Given the description of an element on the screen output the (x, y) to click on. 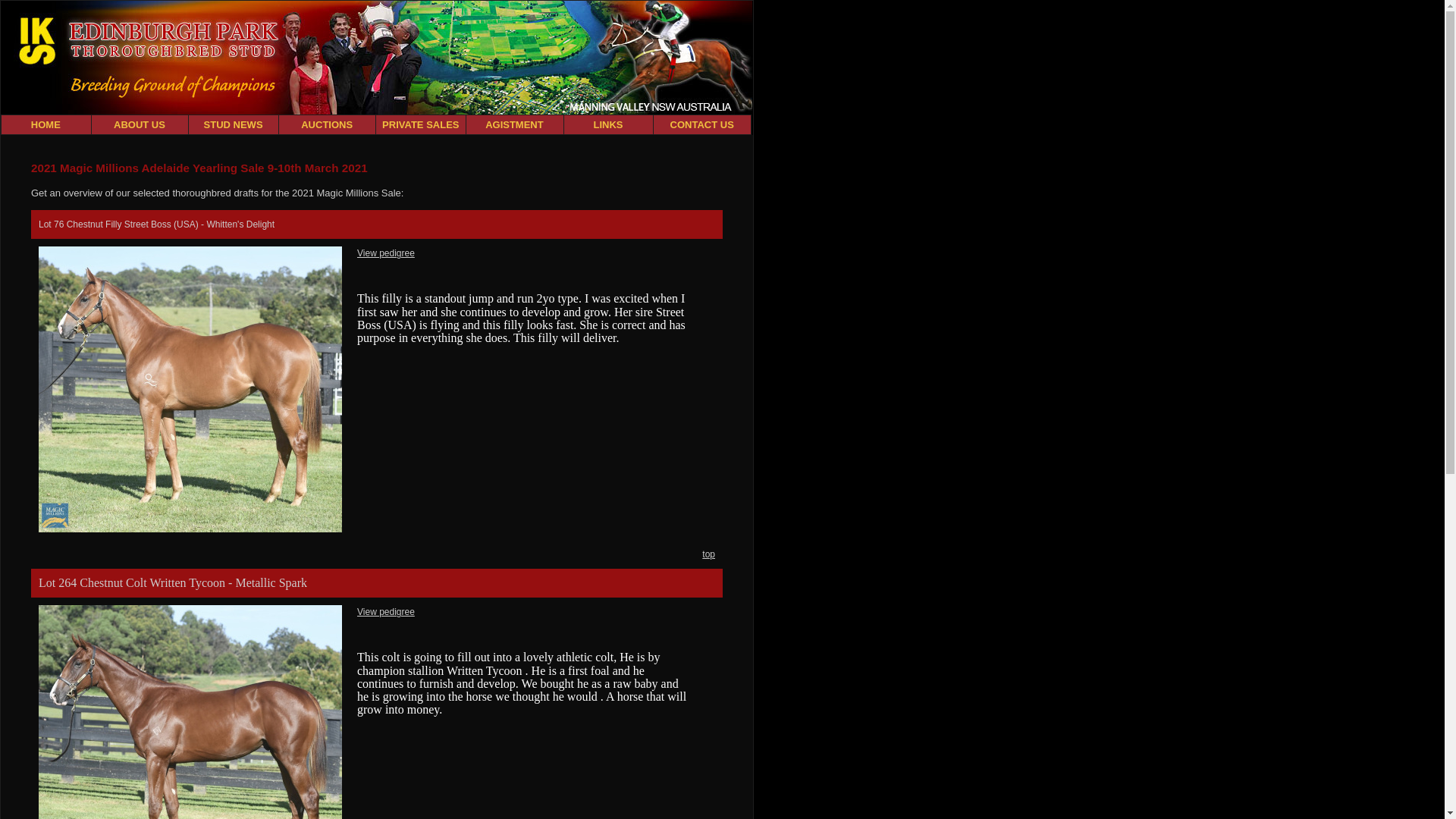
View pedigree Element type: text (385, 252)
View pedigree Element type: text (385, 611)
PRIVATE SALES Element type: text (421, 124)
STUD NEWS Element type: text (233, 124)
CONTACT US Element type: text (702, 124)
LINKS Element type: text (608, 124)
ABOUT US Element type: text (139, 124)
AGISTMENT Element type: text (515, 124)
HOME Element type: text (46, 124)
top Element type: text (708, 554)
AUCTIONS Element type: text (327, 124)
